Given the description of an element on the screen output the (x, y) to click on. 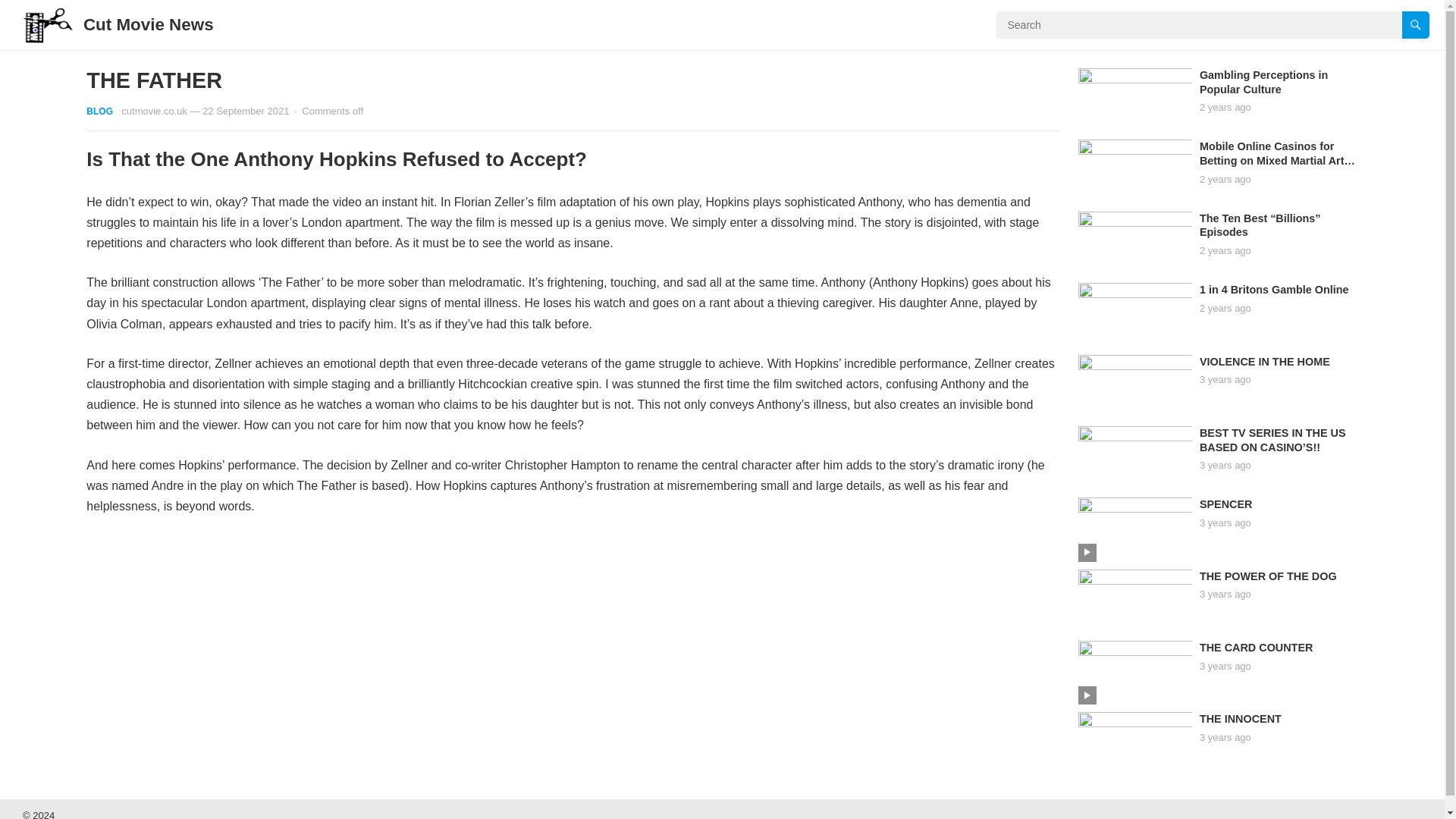
Cut Movie News (148, 24)
SPENCER (1225, 503)
Gambling Perceptions in Popular Culture (1263, 81)
THE INNOCENT (1240, 718)
Posts by cutmovie.co.uk (153, 111)
cutmovie.co.uk (153, 111)
VIOLENCE IN THE HOME (1264, 360)
1 in 4 Britons Gamble Online (1274, 289)
THE CARD COUNTER (1256, 647)
